Given the description of an element on the screen output the (x, y) to click on. 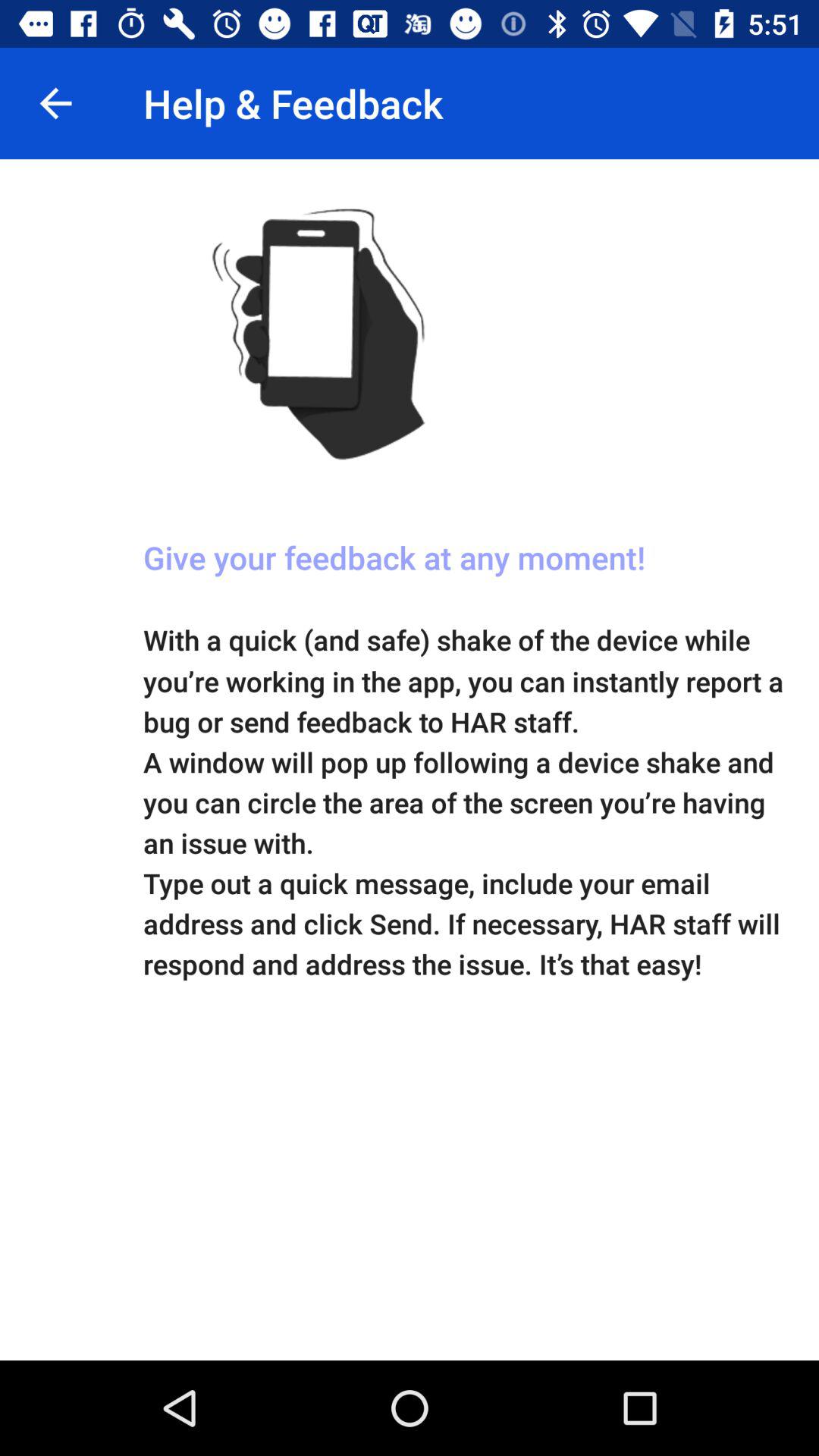
press app next to the help & feedback item (55, 103)
